Given the description of an element on the screen output the (x, y) to click on. 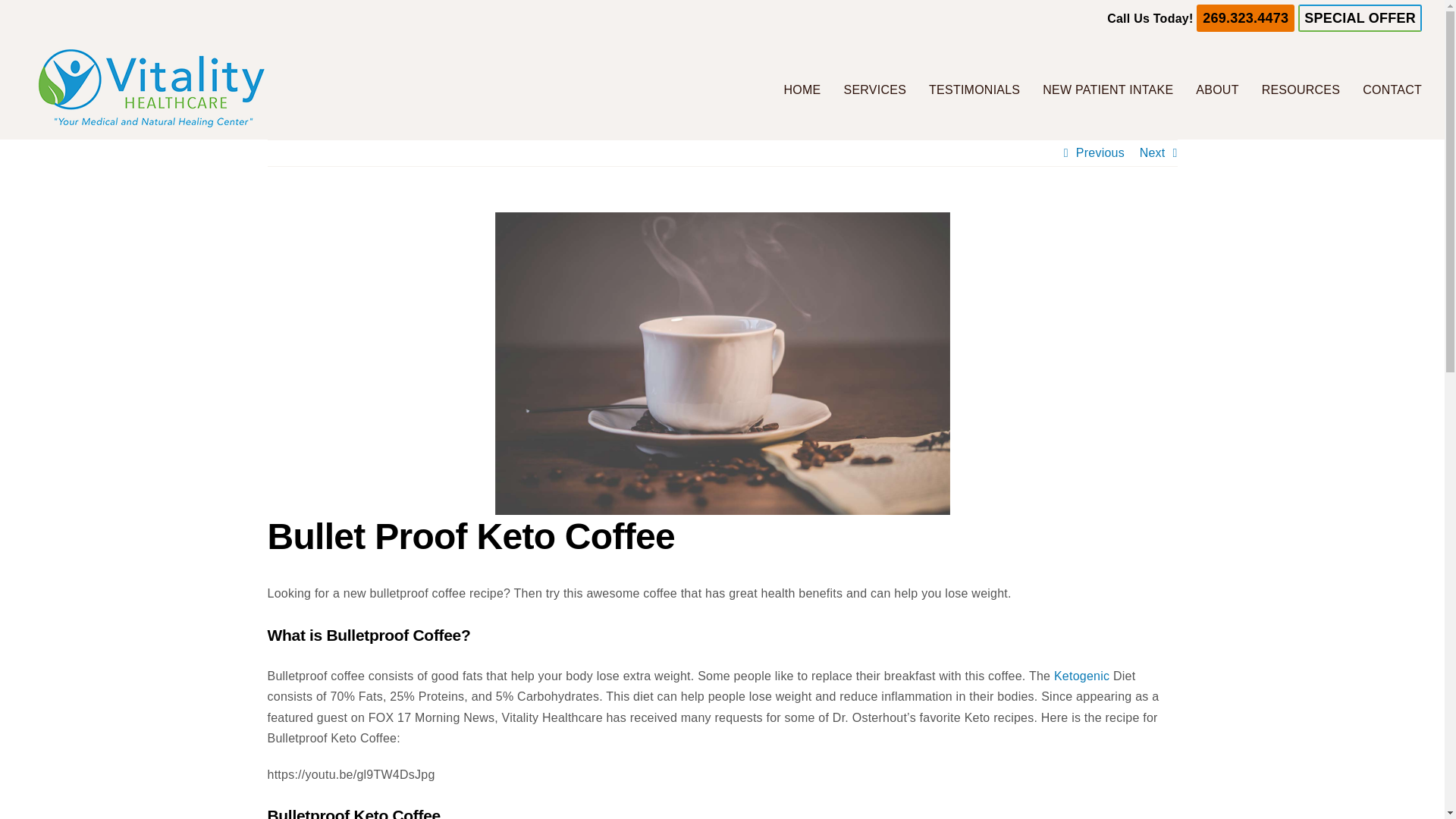
NEW PATIENT INTAKE (1107, 88)
269.323.4473 (1245, 17)
SPECIAL OFFER (1360, 17)
TESTIMONIALS (974, 88)
